Given the description of an element on the screen output the (x, y) to click on. 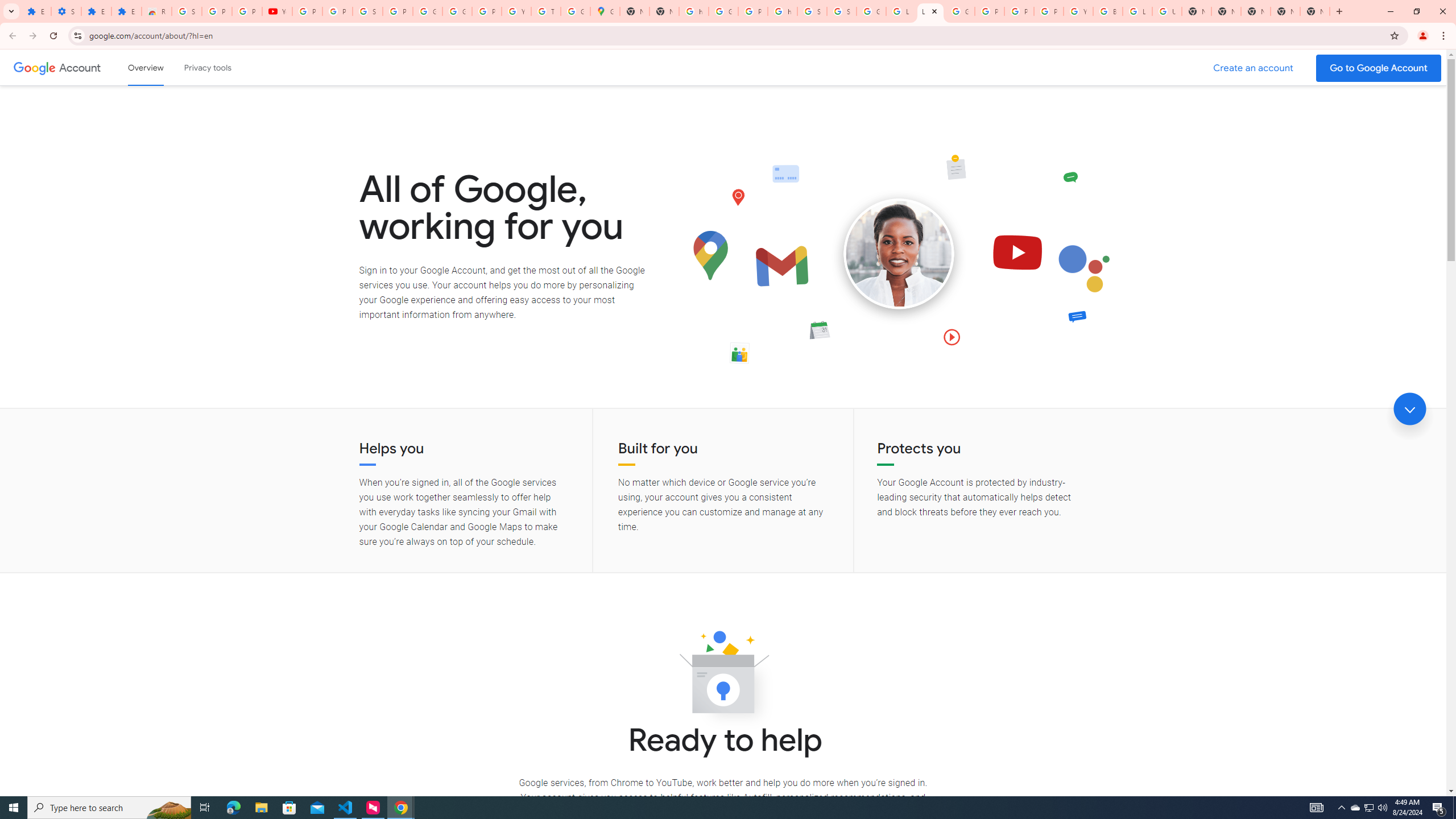
YouTube (515, 11)
YouTube (1077, 11)
Jump link (1409, 408)
Google logo (34, 67)
Extensions (36, 11)
